Given the description of an element on the screen output the (x, y) to click on. 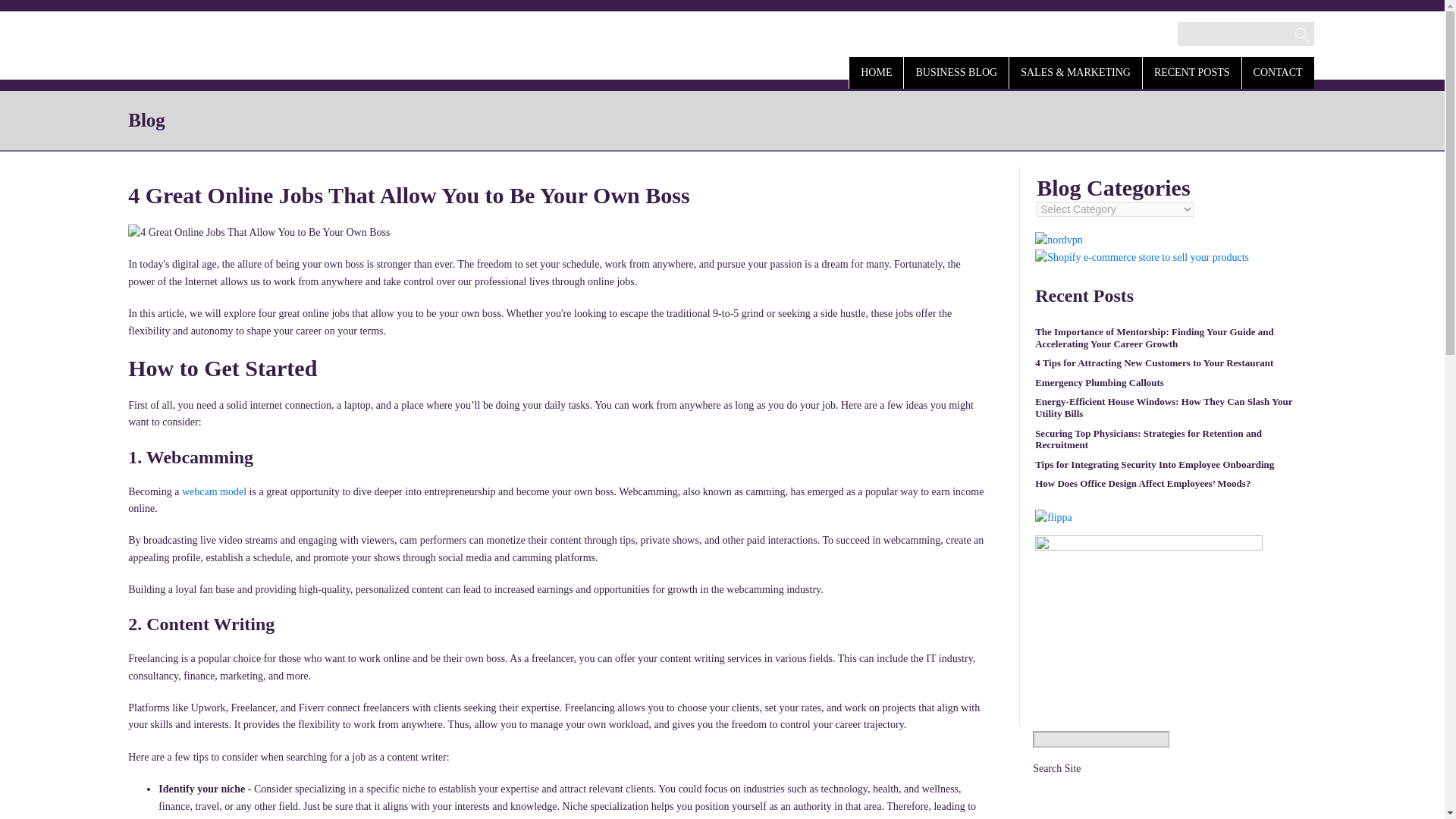
BUSINESS BLOG (956, 71)
HOME (875, 71)
Search (27, 12)
